Given the description of an element on the screen output the (x, y) to click on. 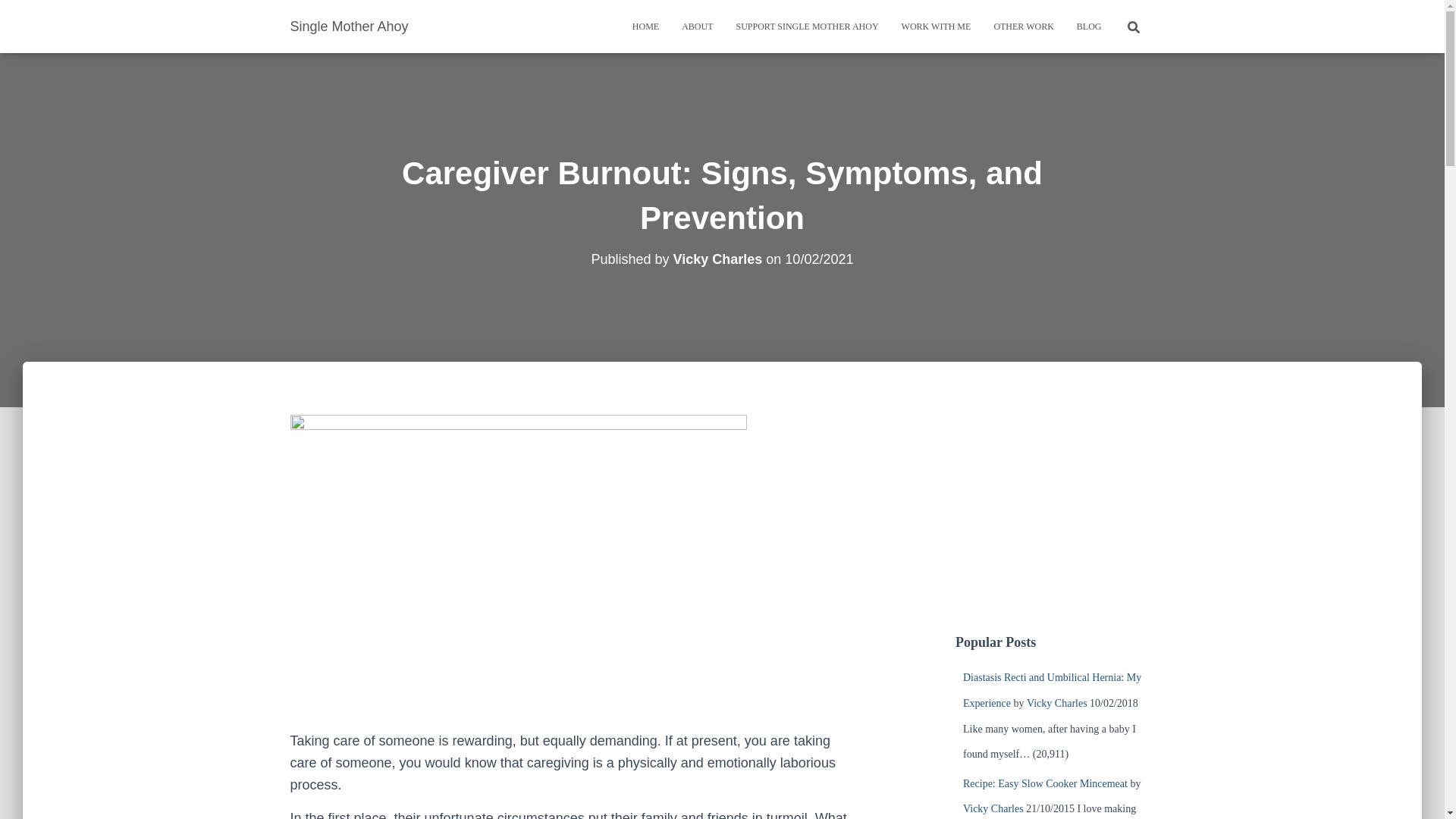
Diastasis Recti and Umbilical Hernia: My Experience (1051, 690)
Other Work (1022, 26)
Home (645, 26)
Vicky Charles (717, 258)
About (696, 26)
Support Single Mother Ahoy (807, 26)
Work With Me (935, 26)
Blog (1089, 26)
BLOG (1089, 26)
Recipe: Easy Slow Cooker Mincemeat (1044, 783)
WORK WITH ME (935, 26)
SUPPORT SINGLE MOTHER AHOY (807, 26)
Single Mother Ahoy (349, 26)
ABOUT (696, 26)
OTHER WORK (1022, 26)
